Given the description of an element on the screen output the (x, y) to click on. 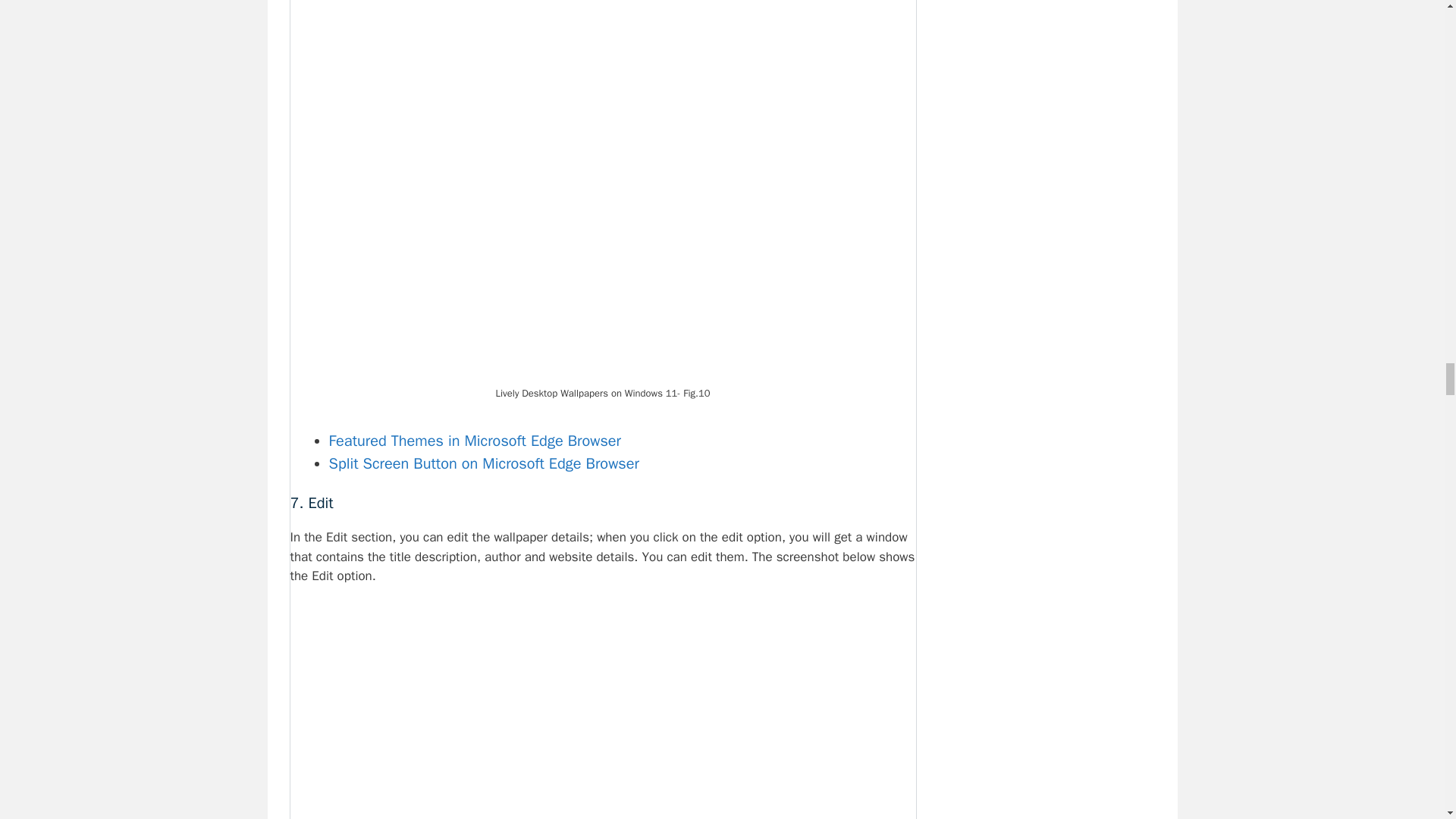
Split Screen Button on Microsoft Edge Browser (484, 462)
Featured Themes in Microsoft Edge Browser (475, 439)
